Given the description of an element on the screen output the (x, y) to click on. 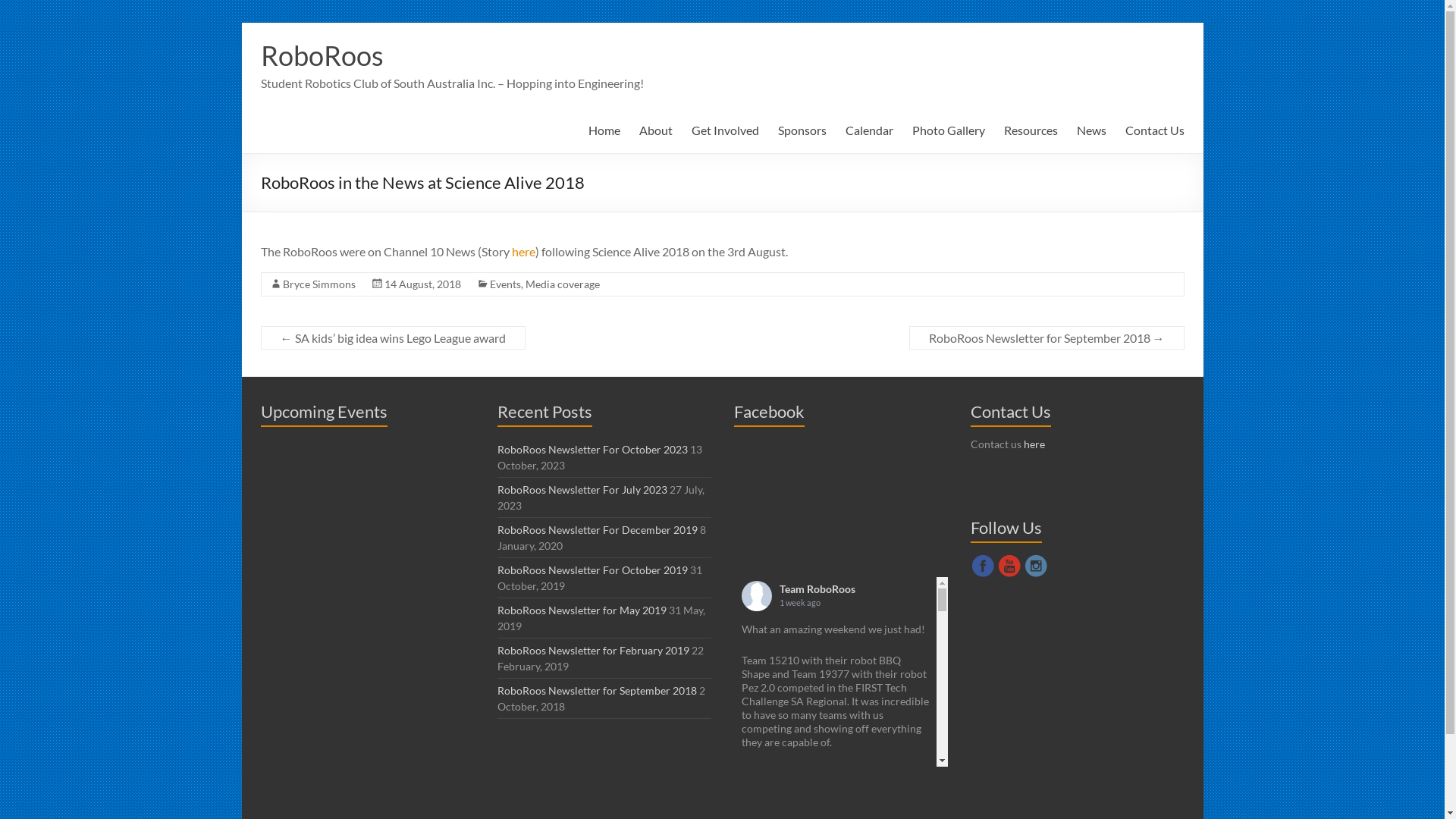
Contact Us Element type: text (1154, 130)
Skip to content Element type: text (241, 21)
RoboRoos Newsletter For October 2023 Element type: text (592, 448)
Home Element type: text (604, 130)
RoboRoos Newsletter for May 2019 Element type: text (581, 609)
Team RoboRoos Element type: text (817, 588)
Media coverage Element type: text (561, 283)
RoboRoos Newsletter for September 2018 Element type: text (596, 690)
News Element type: text (1091, 130)
here Element type: text (522, 251)
RoboRoos Newsletter For December 2019 Element type: text (597, 529)
14 August, 2018 Element type: text (421, 283)
here Element type: text (1033, 443)
RoboRoos Newsletter For July 2023 Element type: text (582, 489)
Photo Gallery Element type: text (947, 130)
RoboRoos Element type: text (321, 55)
Get Involved Element type: text (725, 130)
RoboRoos Newsletter for February 2019 Element type: text (593, 649)
Resources Element type: text (1030, 130)
Bryce Simmons Element type: text (318, 283)
Calendar Element type: text (868, 130)
About Element type: text (654, 130)
RoboRoos Newsletter For October 2019 Element type: text (592, 569)
Sponsors Element type: text (802, 130)
Events Element type: text (504, 283)
